Given the description of an element on the screen output the (x, y) to click on. 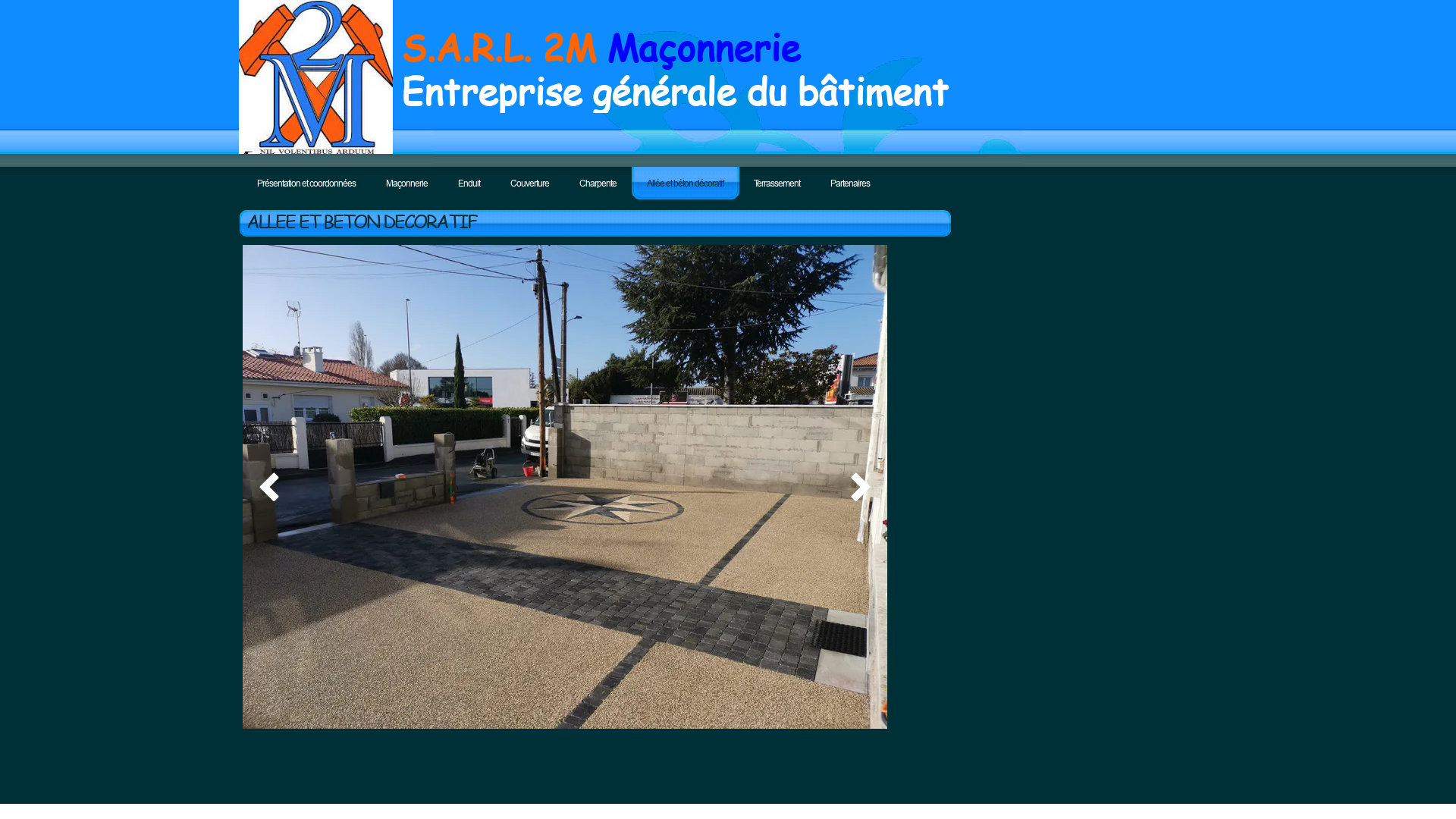
Partenaires Element type: text (849, 182)
Charpente Element type: text (597, 182)
Couverture Element type: text (529, 182)
Enduit Element type: text (468, 182)
Terrassement Element type: text (776, 182)
